Given the description of an element on the screen output the (x, y) to click on. 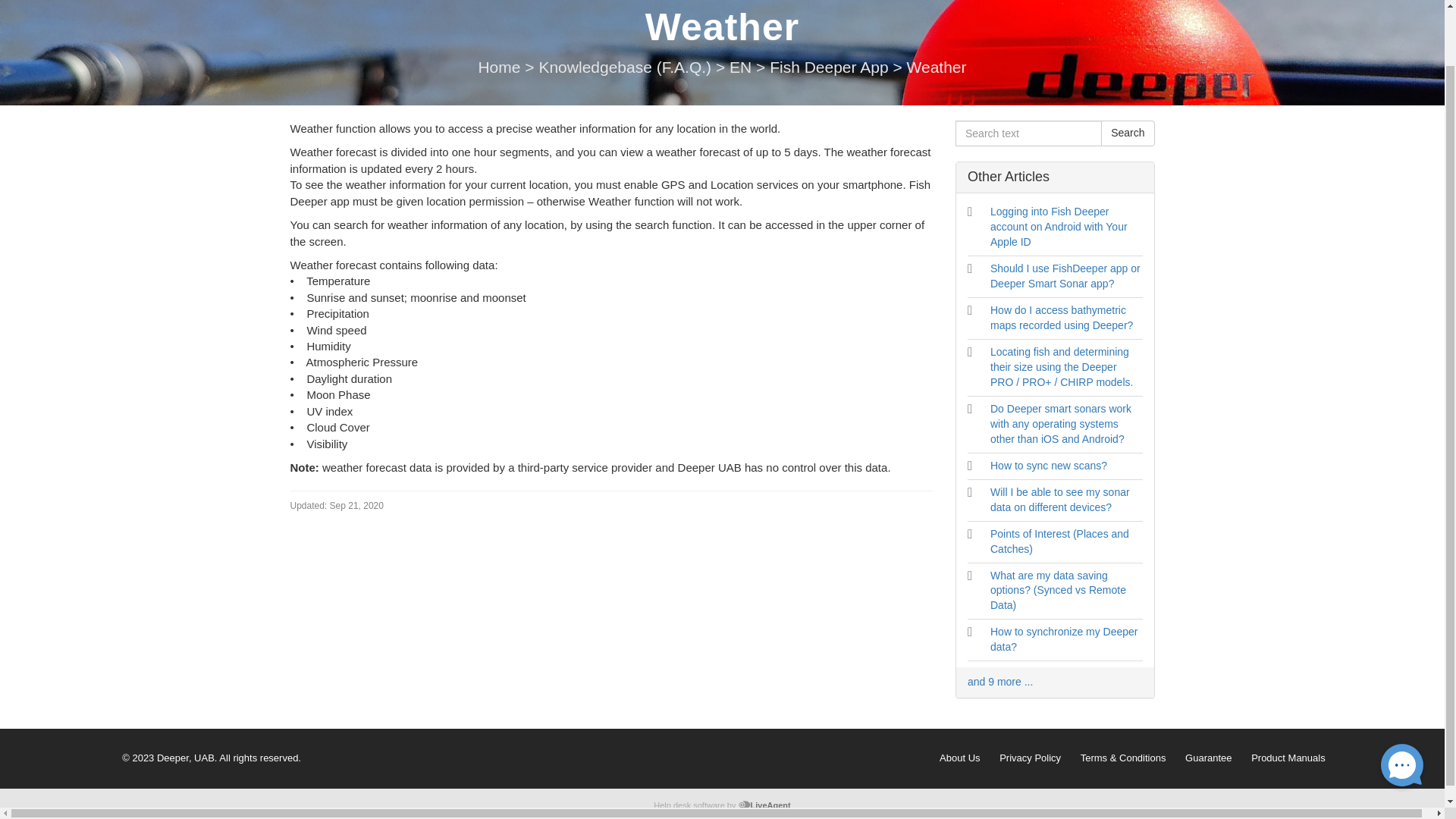
About Us (960, 757)
Privacy Policy (1029, 757)
EN (742, 67)
How do I access bathymetric maps recorded using Deeper? (1061, 317)
How to synchronize my Deeper data? (1064, 638)
Will I be able to see my sonar data on different devices? (1059, 499)
Search text (1028, 133)
Guarantee (1208, 757)
